Given the description of an element on the screen output the (x, y) to click on. 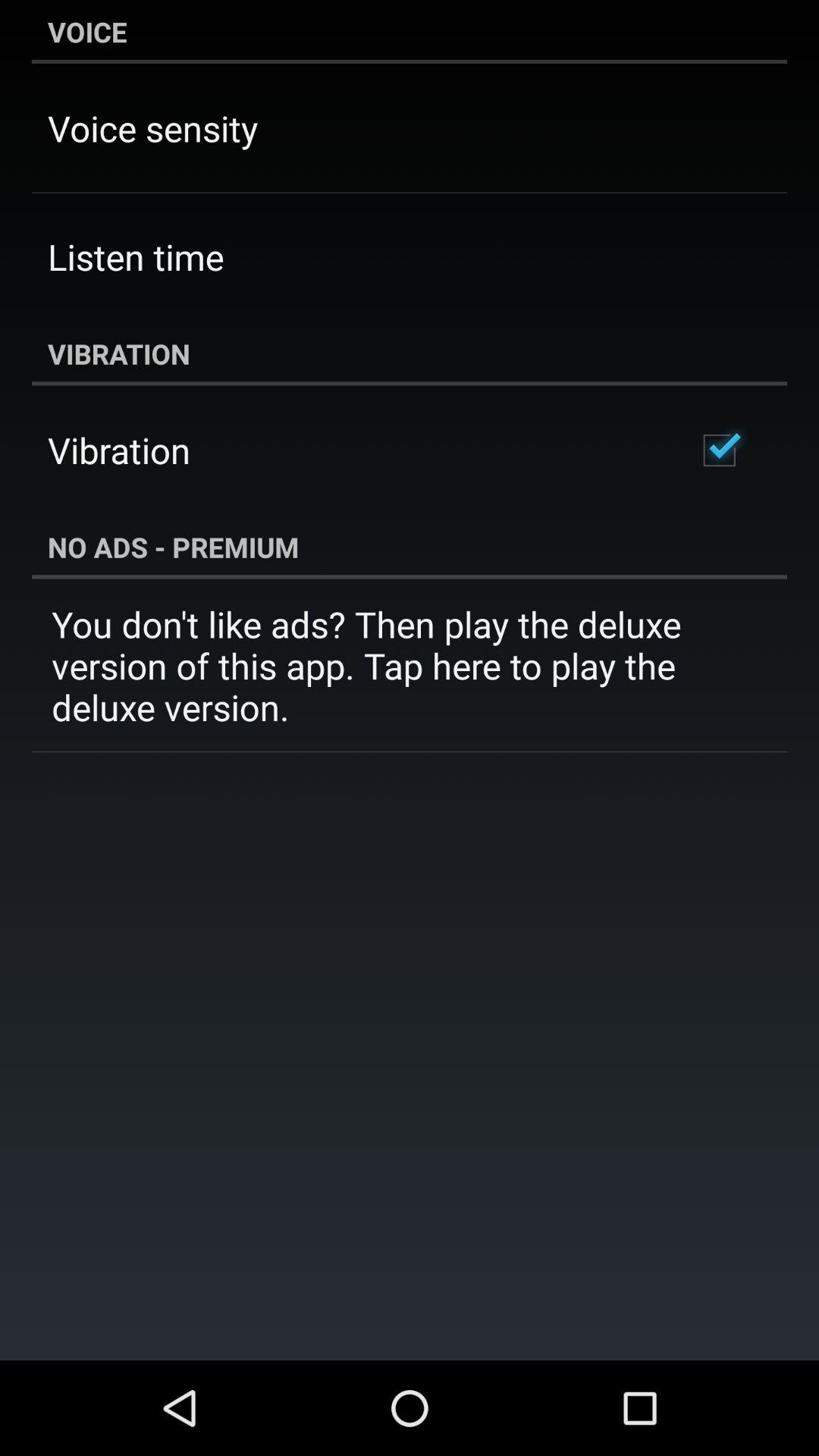
turn on item above the no ads - premium (719, 450)
